Given the description of an element on the screen output the (x, y) to click on. 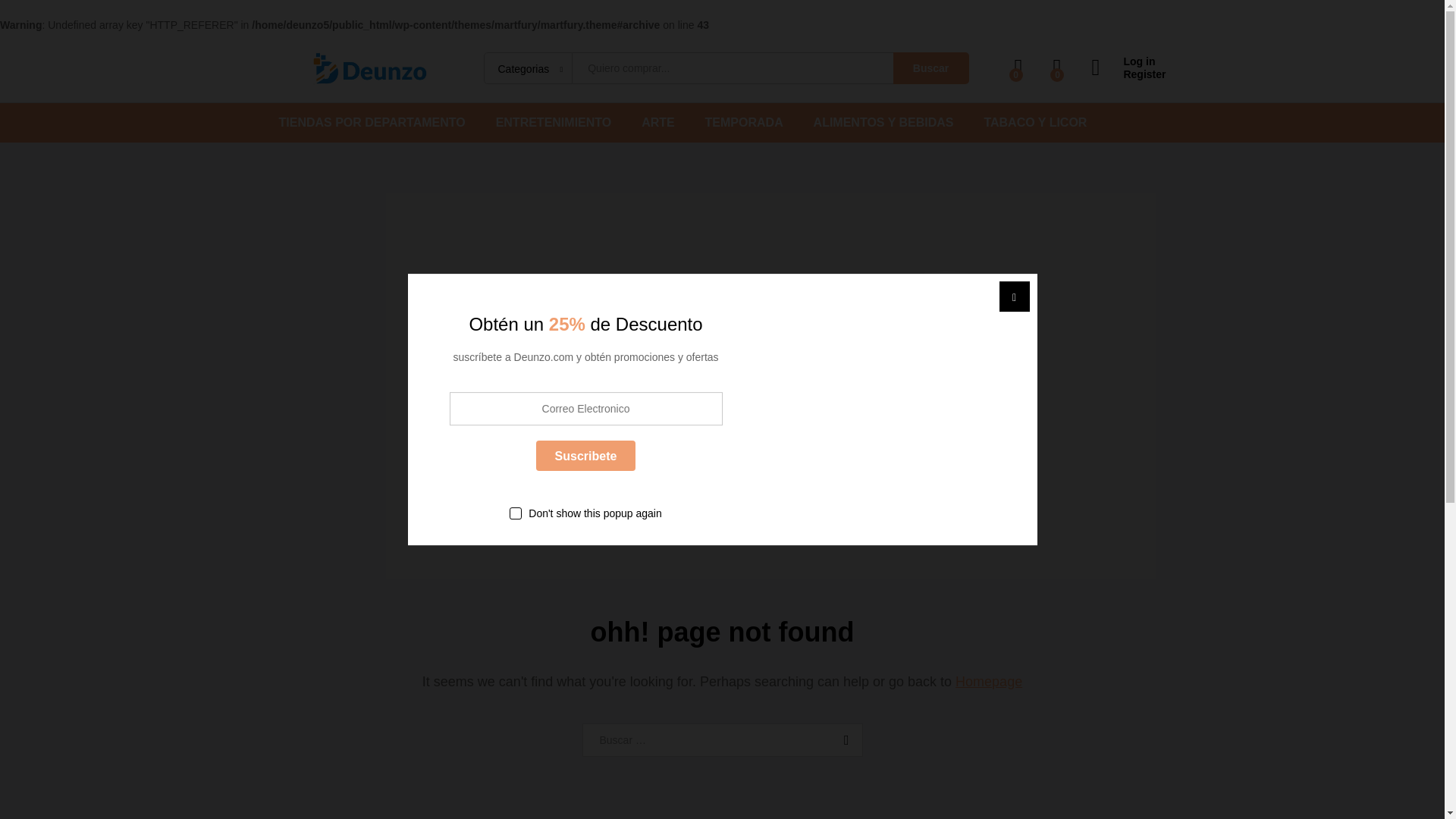
Register (1128, 74)
Buscar (843, 739)
Log in (1128, 61)
ENTRETENIMIENTO (553, 122)
0 (1018, 67)
0 (1056, 67)
Suscribete (585, 456)
Buscar (931, 68)
Buscar (843, 739)
TIENDAS POR DEPARTAMENTO (372, 122)
